Given the description of an element on the screen output the (x, y) to click on. 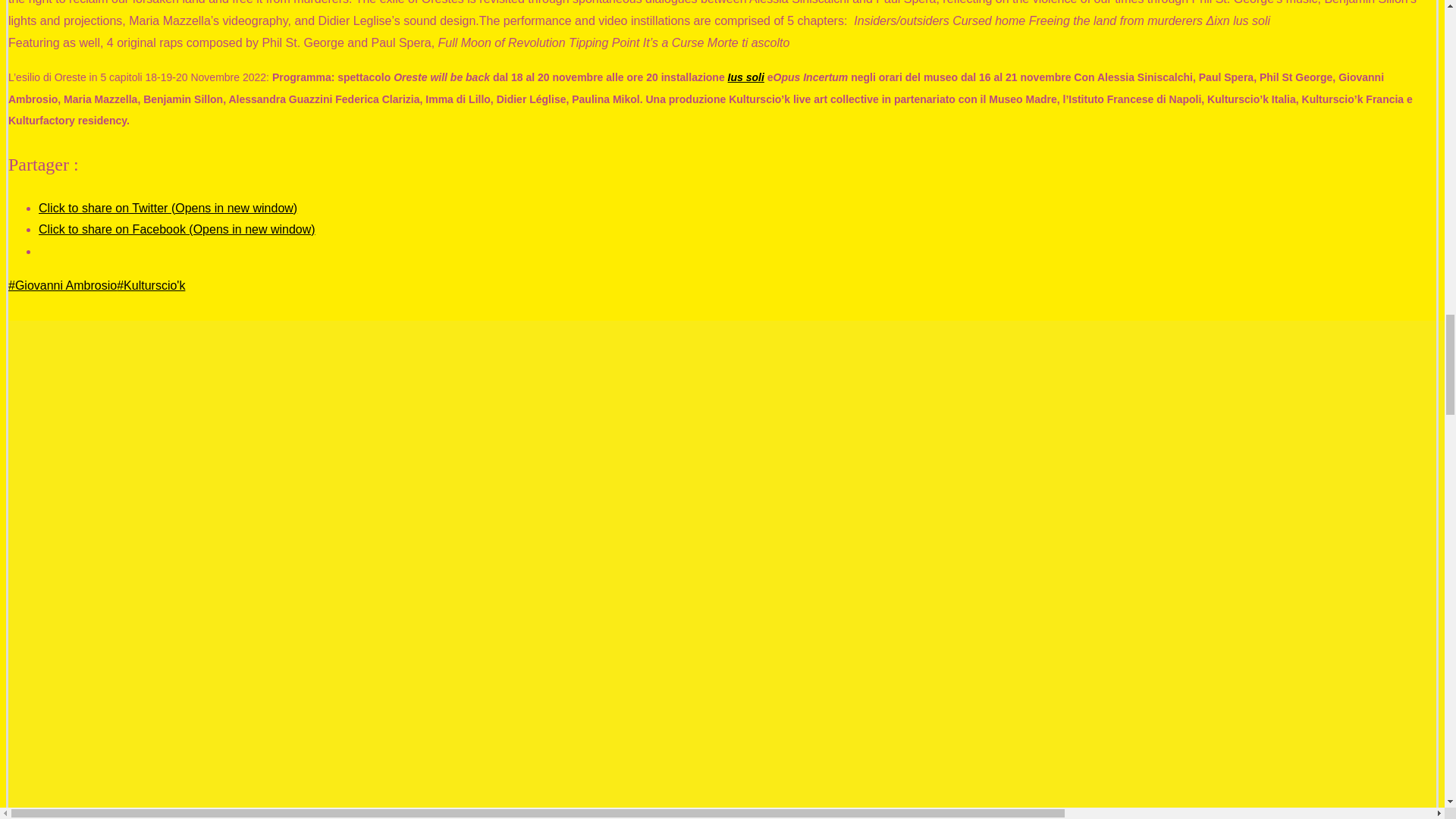
Click to share on Twitter (168, 207)
Ius soli (746, 77)
Click to share on Facebook (177, 228)
